Given the description of an element on the screen output the (x, y) to click on. 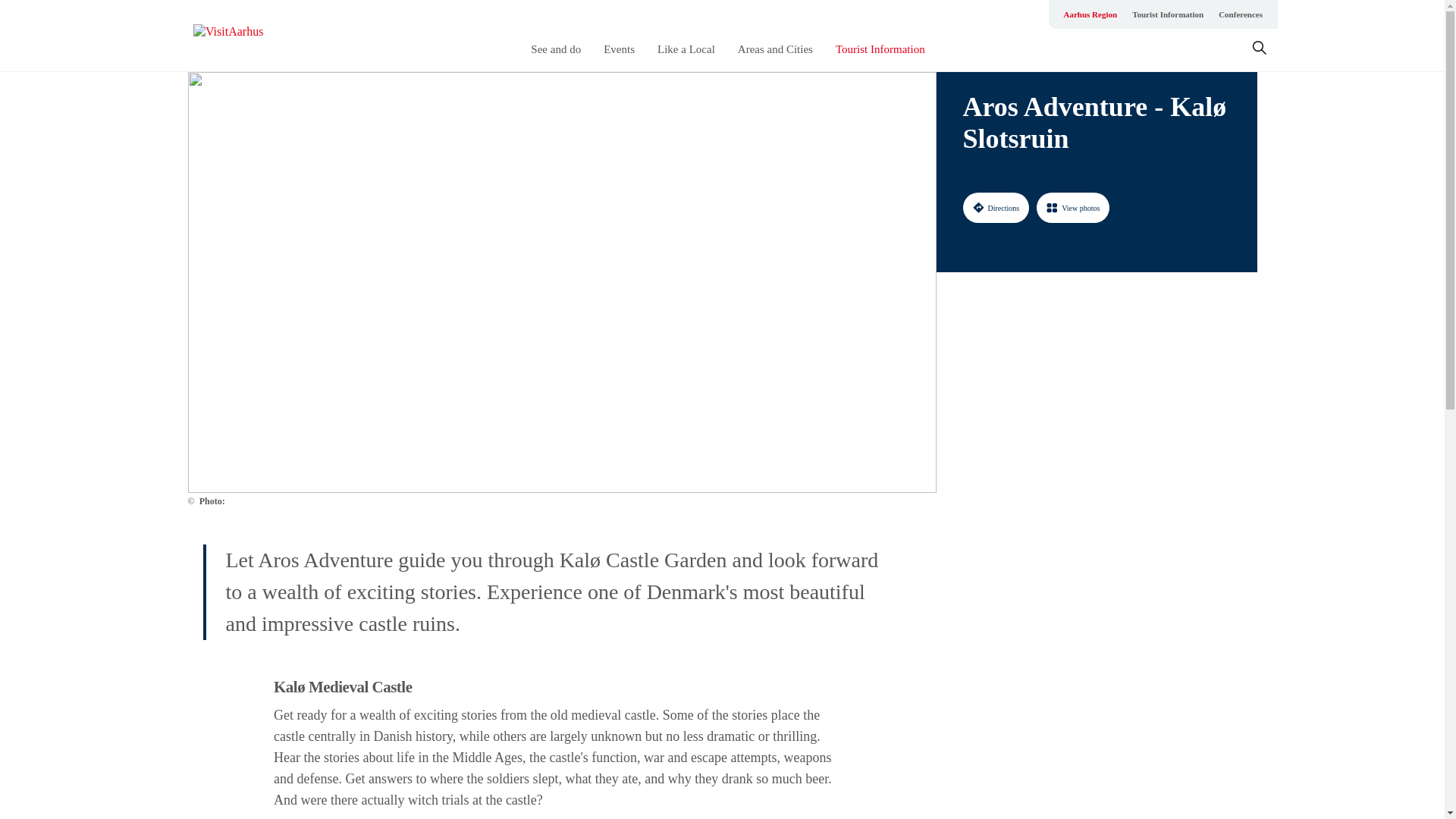
Conferences (1240, 14)
View photos (1072, 207)
Aarhus Region (1091, 14)
Tourist Information (1167, 14)
Go to homepage (253, 35)
See and do (555, 49)
Directions (995, 207)
Areas and Cities (775, 49)
Like a Local (686, 49)
Events (619, 49)
